Given the description of an element on the screen output the (x, y) to click on. 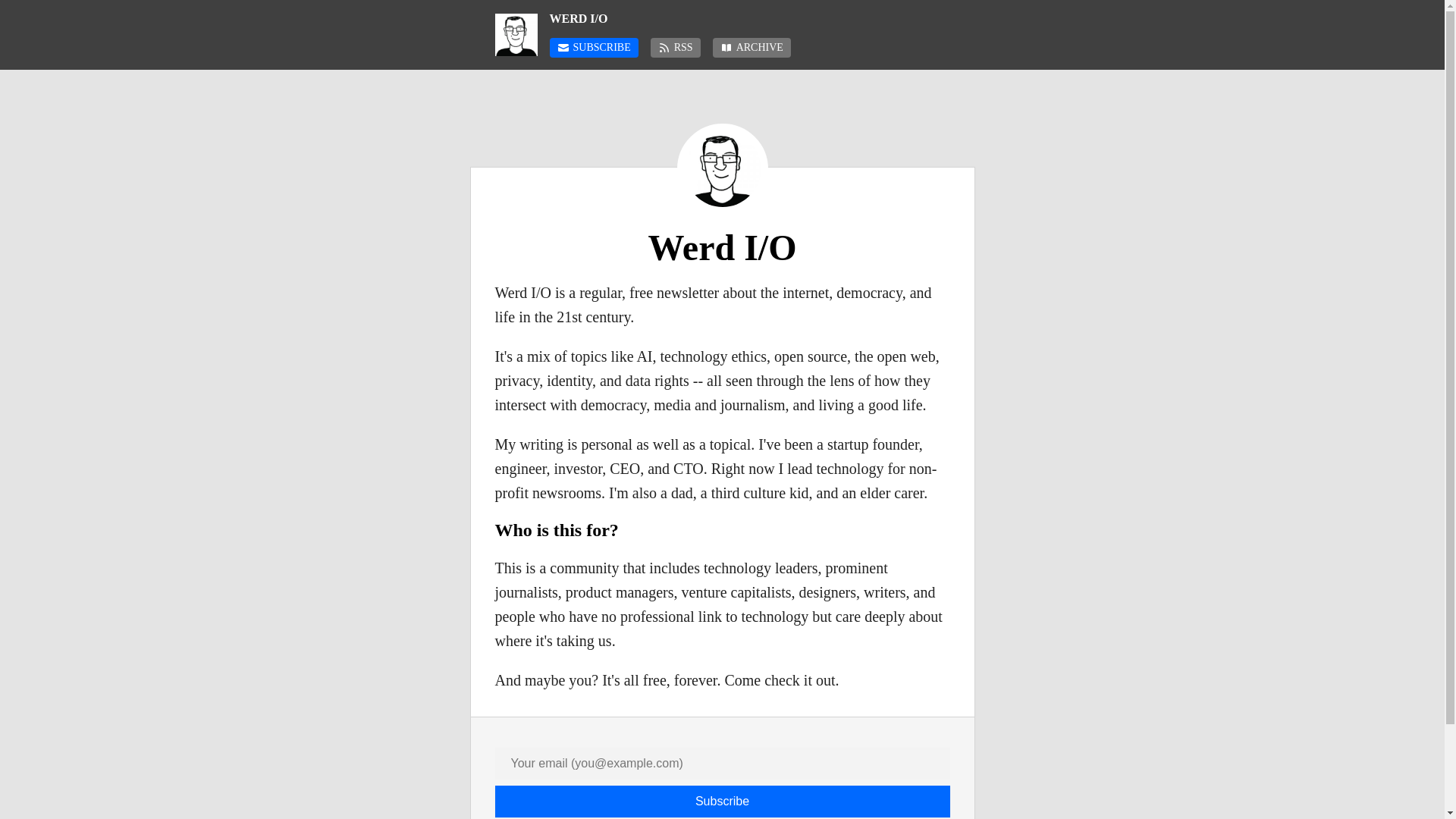
ARCHIVE (751, 47)
SUBSCRIBE (592, 47)
RSS (675, 47)
Subscribe (722, 801)
